Given the description of an element on the screen output the (x, y) to click on. 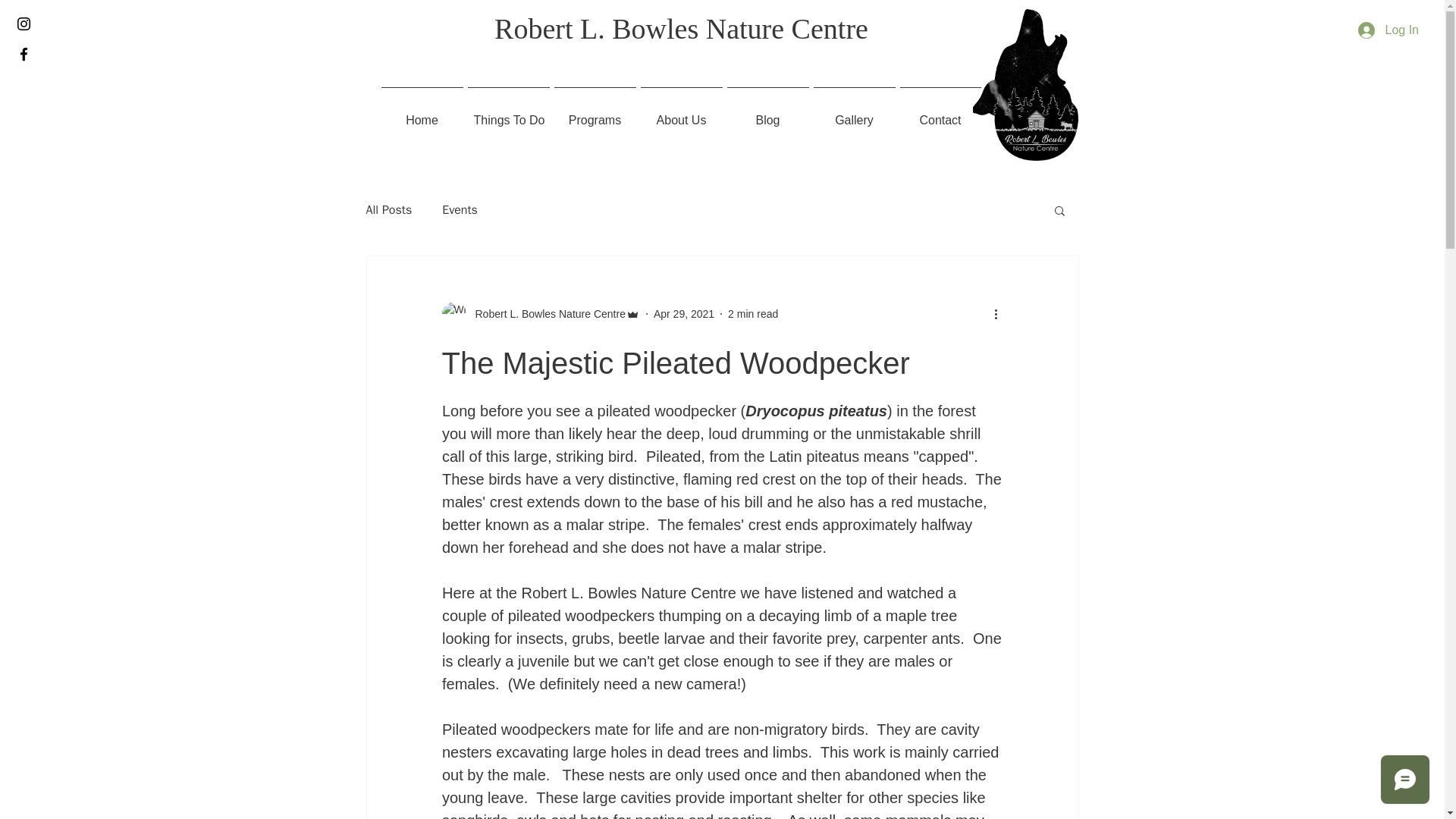
Things To Do (508, 112)
Events (459, 209)
Home (421, 112)
Programs (595, 112)
All Posts (388, 209)
Robert L. Bowles Nature Centre (544, 314)
Robert L. Bowles Nature Centre (681, 29)
About Us (682, 112)
Robert L. Bowles Nature Centre (540, 313)
Log In (1388, 30)
Apr 29, 2021 (683, 313)
Gallery (854, 112)
Blog (767, 112)
2 min read (752, 313)
Contact (941, 112)
